Given the description of an element on the screen output the (x, y) to click on. 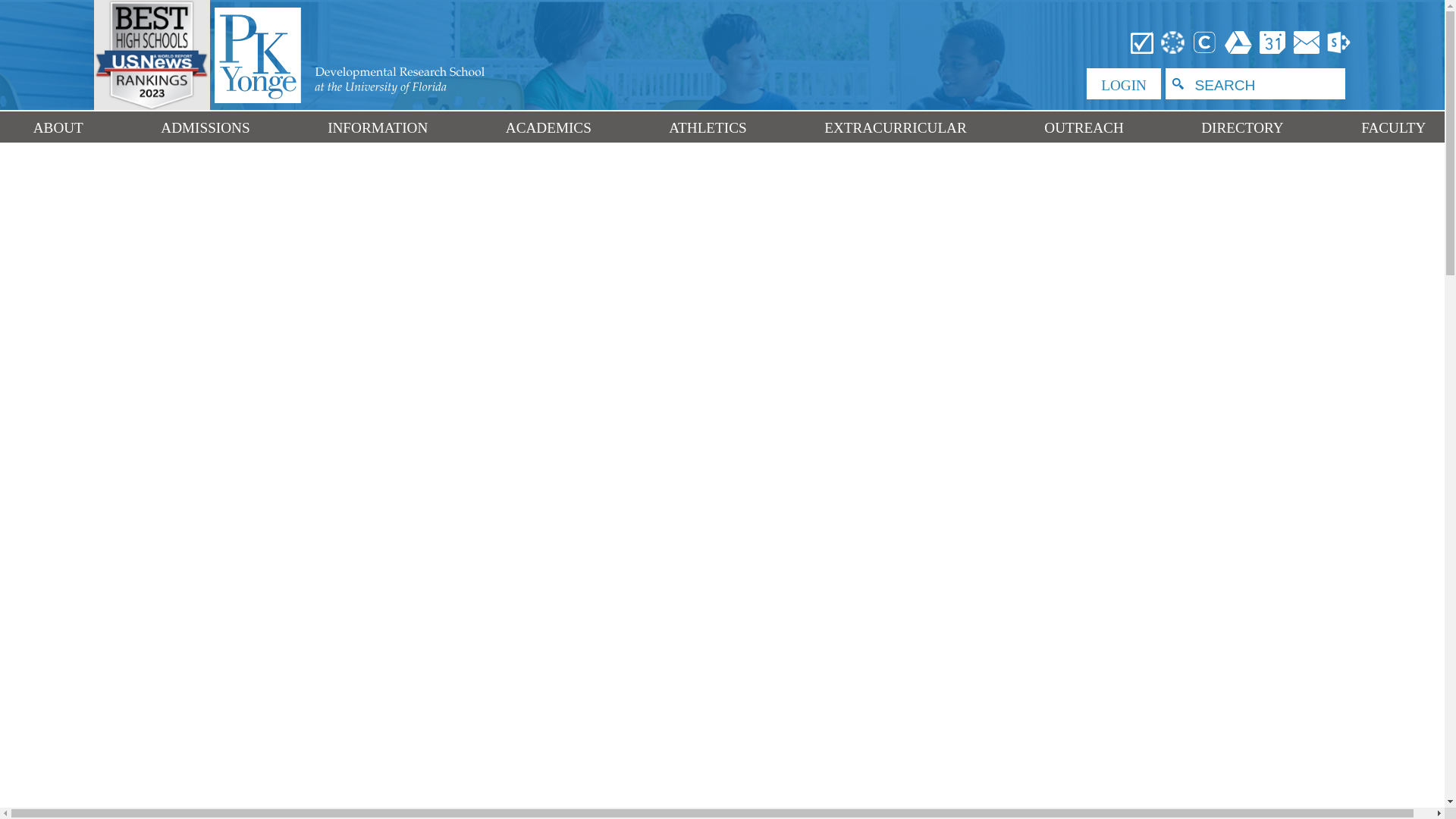
Calendar (1273, 40)
Canvas (1173, 40)
Google Drive (1238, 40)
Skyward (1141, 40)
Clever (1205, 40)
Sharepoint (1337, 40)
LOGIN (1123, 83)
Outlook Web App (1306, 40)
